Given the description of an element on the screen output the (x, y) to click on. 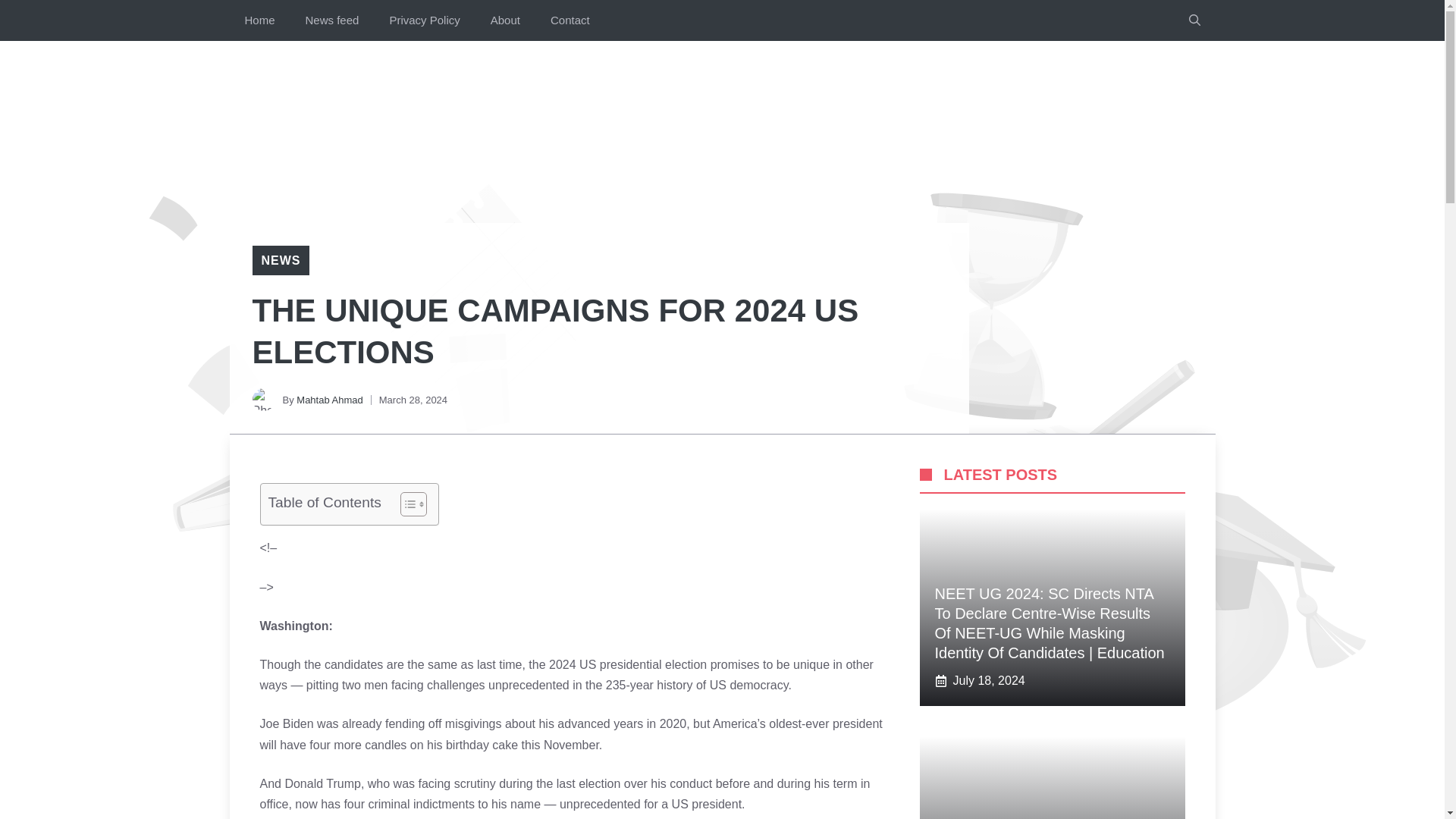
Privacy Policy (424, 20)
Mahtab Ahmad (329, 399)
About (505, 20)
Contact (570, 20)
NEWS (279, 259)
News feed (331, 20)
Home (258, 20)
